Given the description of an element on the screen output the (x, y) to click on. 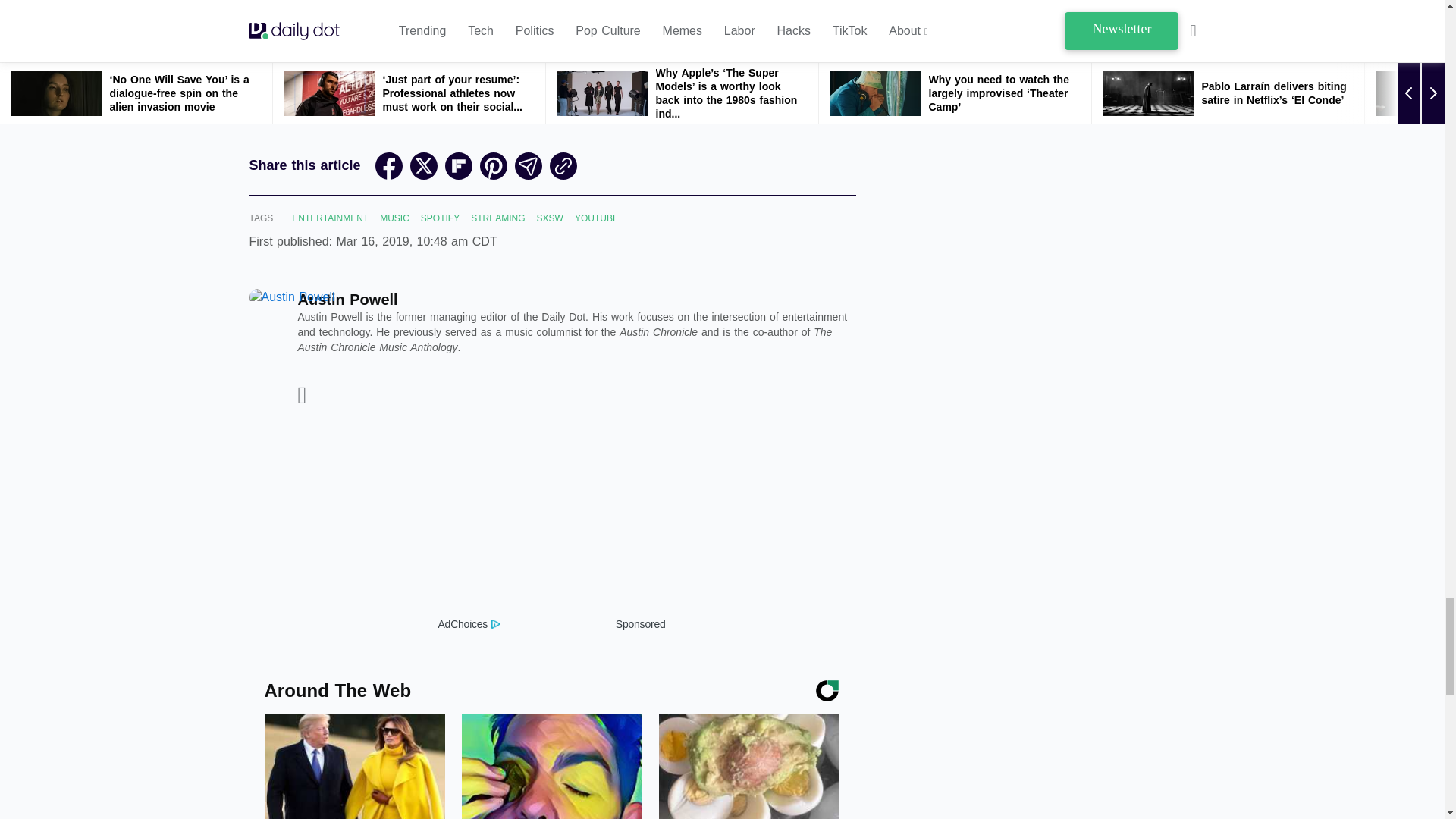
ad content (551, 520)
